Given the description of an element on the screen output the (x, y) to click on. 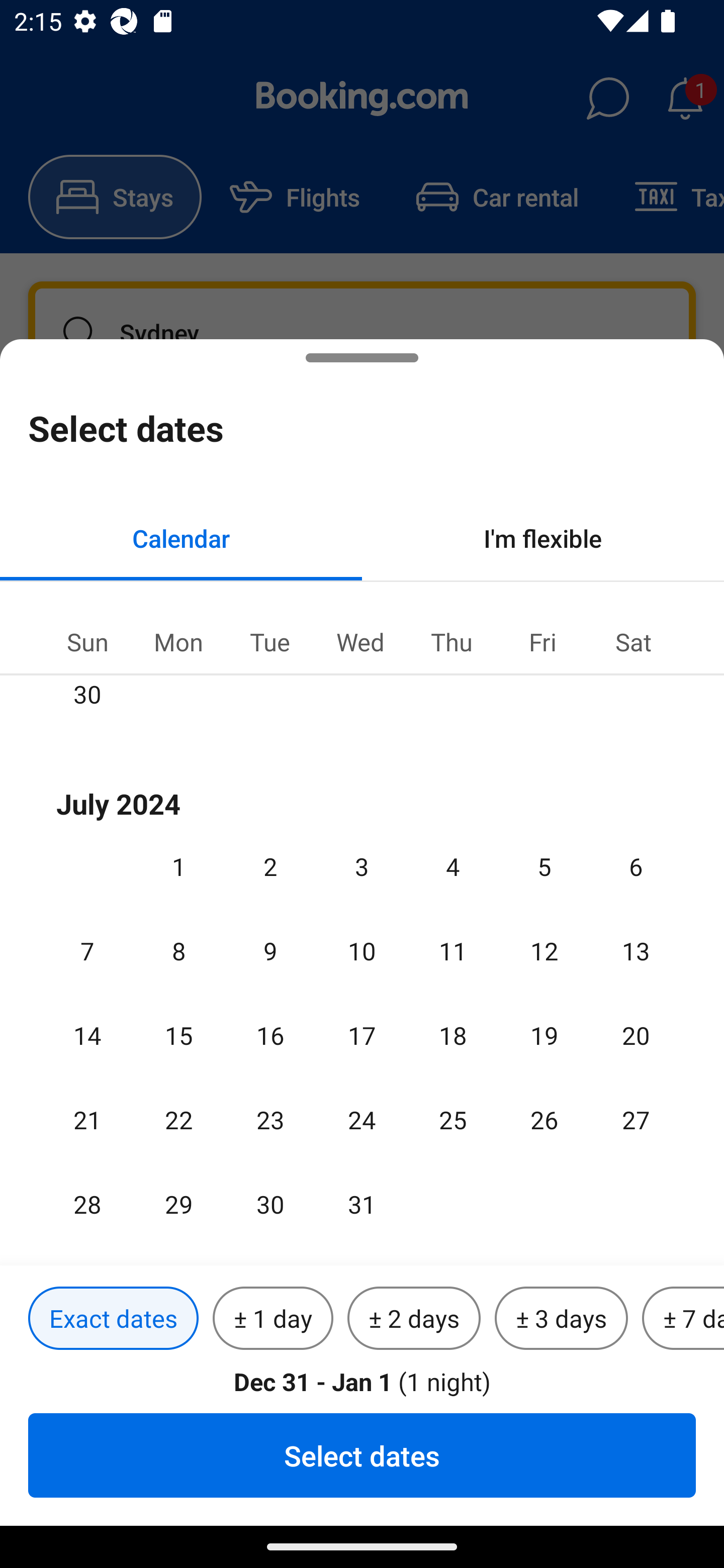
I'm flexible (543, 537)
Exact dates (113, 1318)
± 1 day (272, 1318)
± 2 days (413, 1318)
± 3 days (560, 1318)
± 7 days (683, 1318)
Select dates (361, 1454)
